Given the description of an element on the screen output the (x, y) to click on. 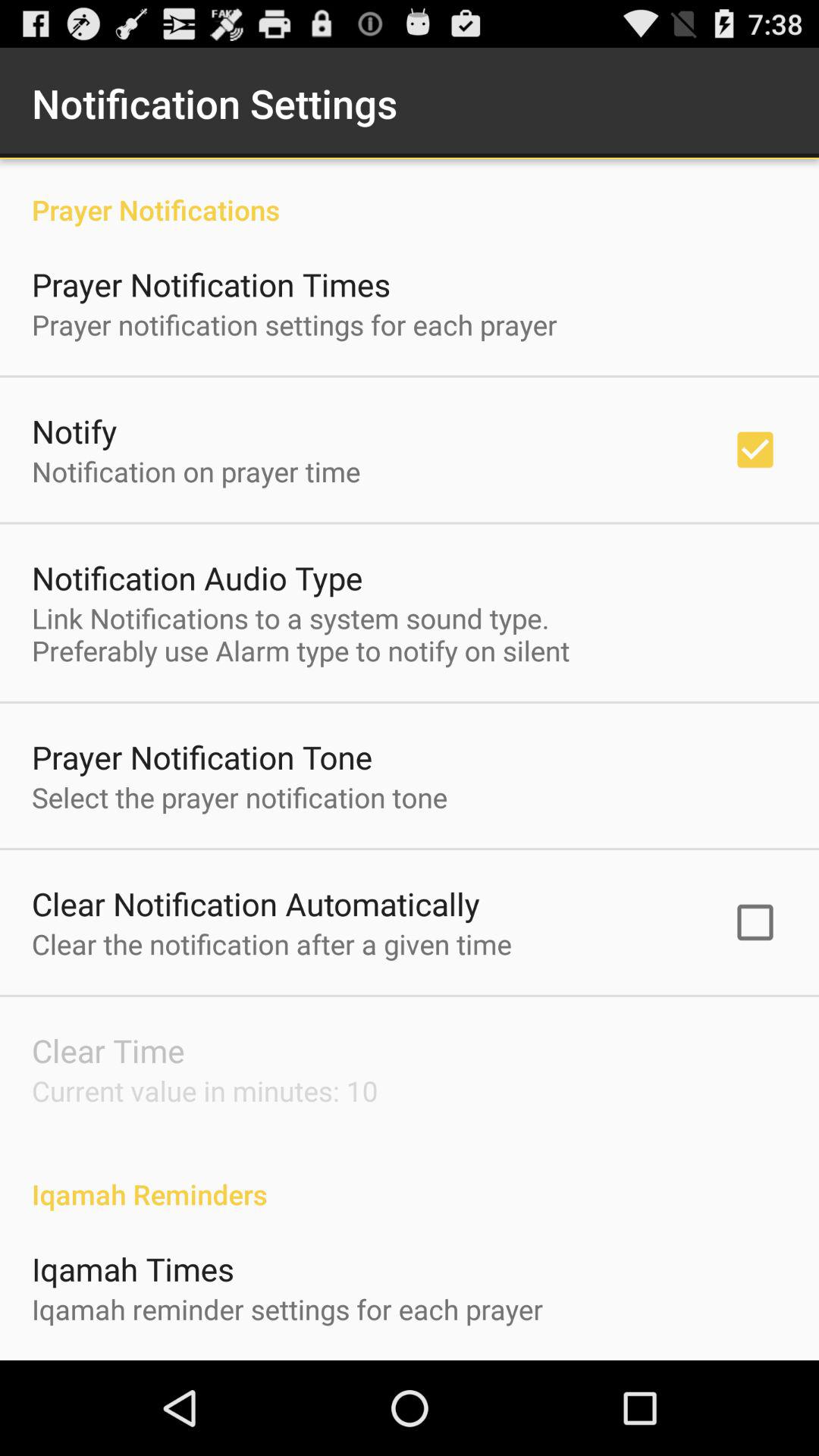
turn off the item below iqamah times item (287, 1309)
